Given the description of an element on the screen output the (x, y) to click on. 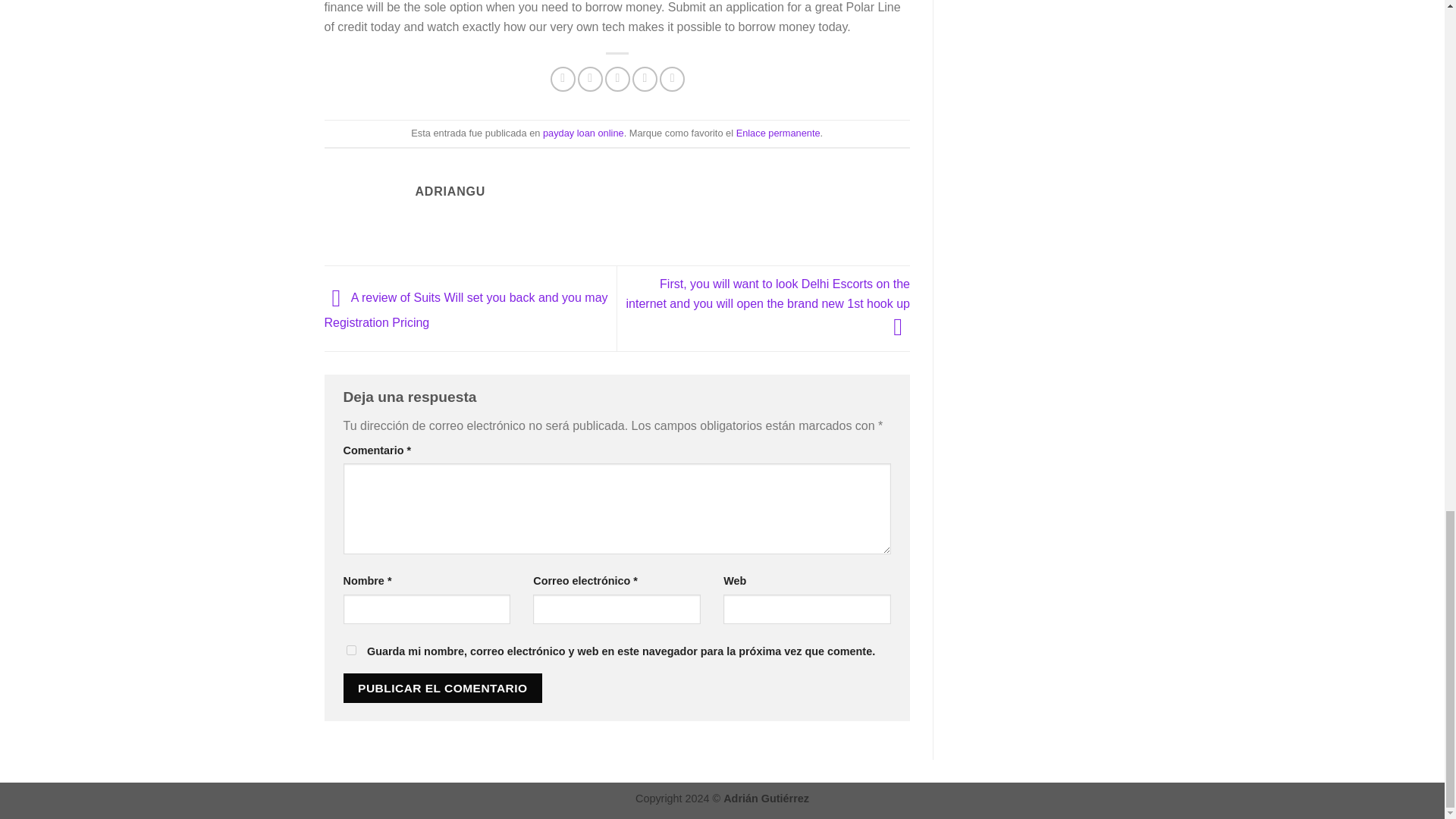
Publicar el comentario (441, 687)
payday loan online (583, 132)
Compartir en Facebook (562, 78)
Publicar el comentario (441, 687)
Compartir en LinkedIn (671, 78)
Enlace permanente (778, 132)
Compartir en Twitter (590, 78)
Pinear en Pinterest (644, 78)
yes (350, 650)
